Given the description of an element on the screen output the (x, y) to click on. 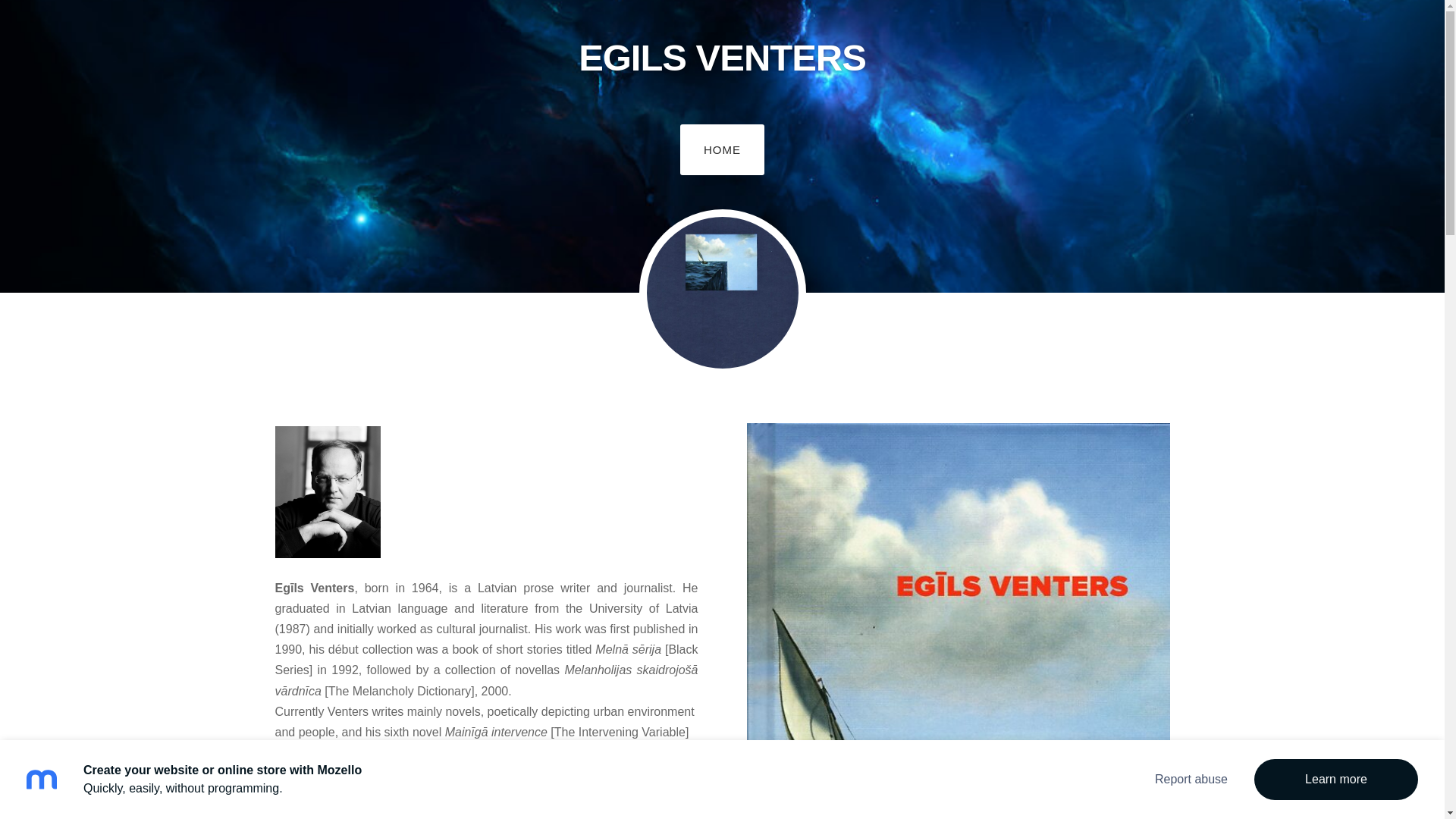
HOME (722, 149)
Report abuse (1190, 779)
Learn more (1335, 779)
